Given the description of an element on the screen output the (x, y) to click on. 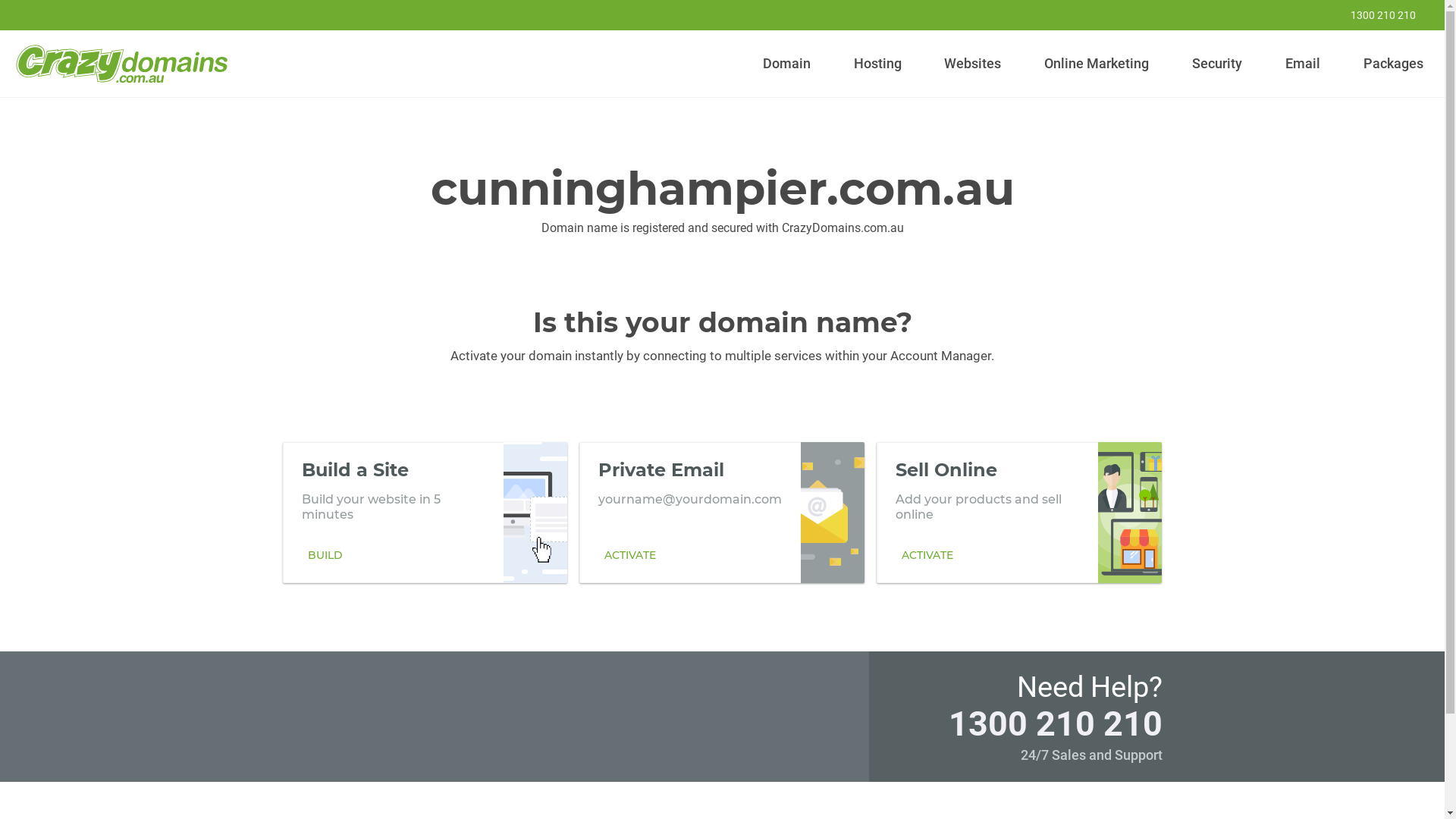
Websites Element type: text (972, 63)
1300 210 210 Element type: text (1054, 723)
Hosting Element type: text (877, 63)
1300 210 210 Element type: text (1373, 15)
Packages Element type: text (1392, 63)
Sell Online
Add your products and sell online
ACTIVATE Element type: text (1018, 511)
Build a Site
Build your website in 5 minutes
BUILD Element type: text (424, 511)
Email Element type: text (1302, 63)
Domain Element type: text (786, 63)
Online Marketing Element type: text (1096, 63)
Security Element type: text (1217, 63)
Private Email
yourname@yourdomain.com
ACTIVATE Element type: text (721, 511)
